Given the description of an element on the screen output the (x, y) to click on. 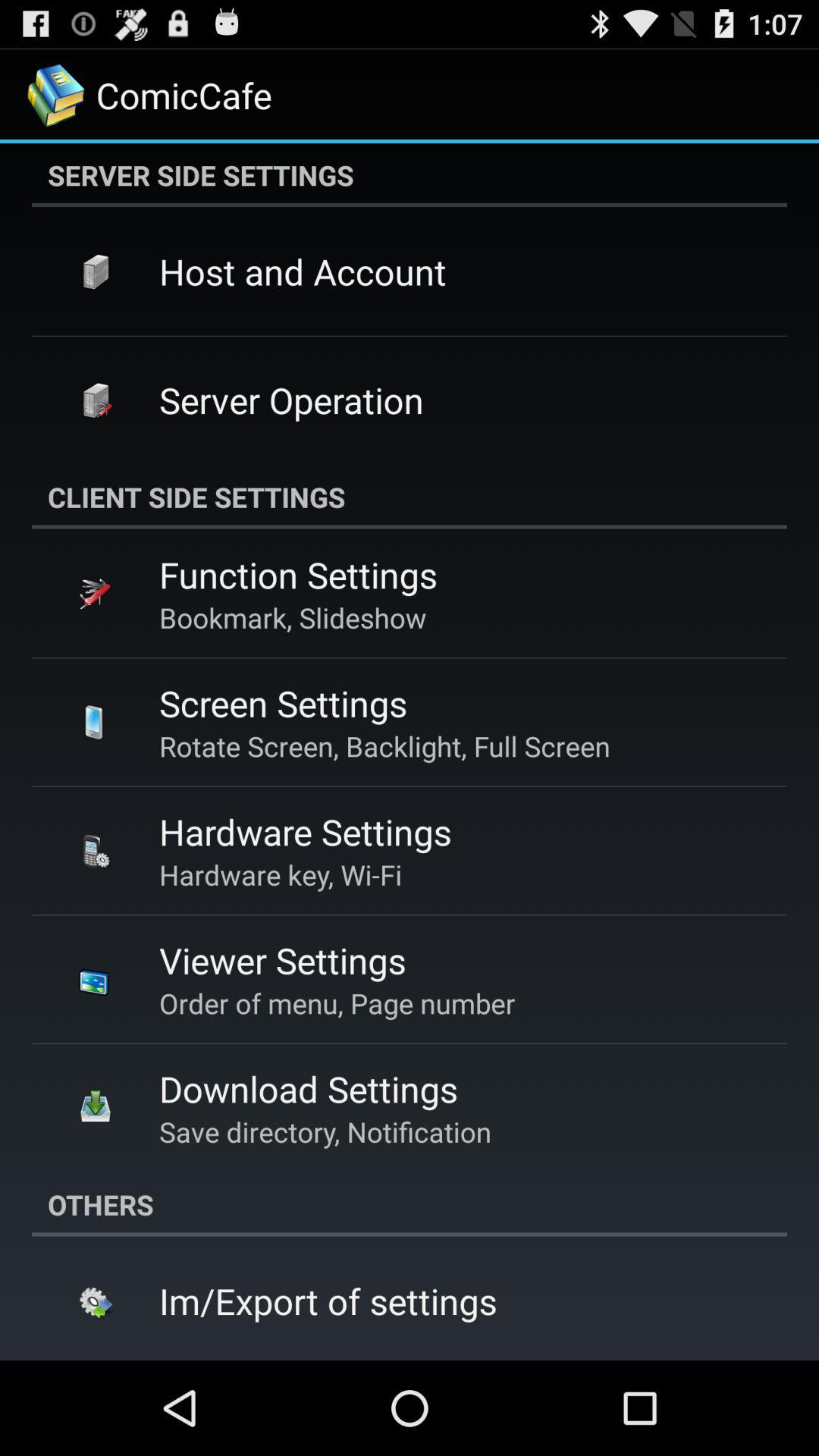
turn off the app above the screen settings item (292, 617)
